Given the description of an element on the screen output the (x, y) to click on. 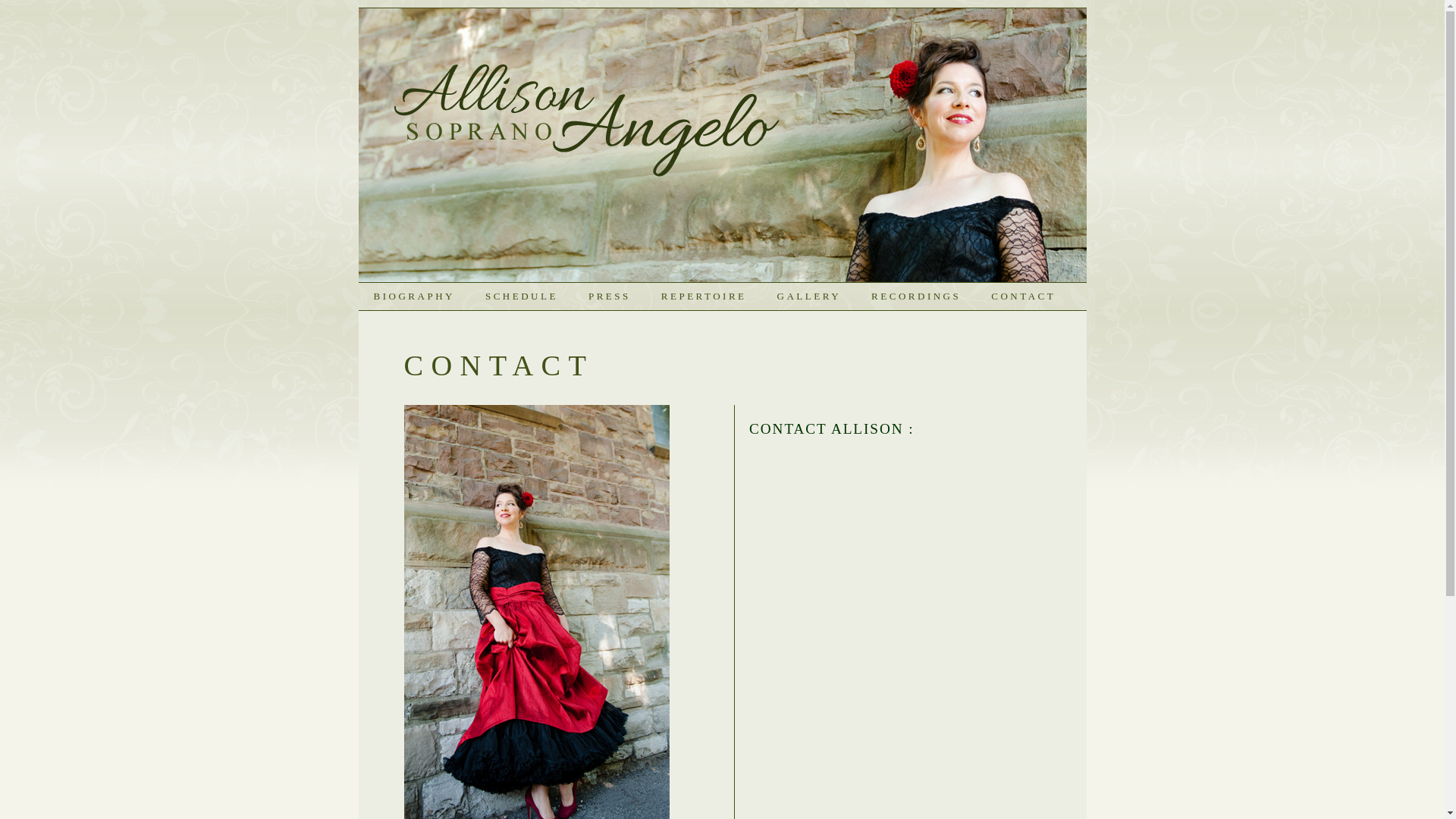
CONTACT Element type: text (1022, 296)
GALLERY Element type: text (809, 296)
SCHEDULE Element type: text (521, 296)
REPERTOIRE Element type: text (704, 296)
BIOGRAPHY Element type: text (413, 296)
RECORDINGS Element type: text (915, 296)
PRESS Element type: text (609, 296)
